Given the description of an element on the screen output the (x, y) to click on. 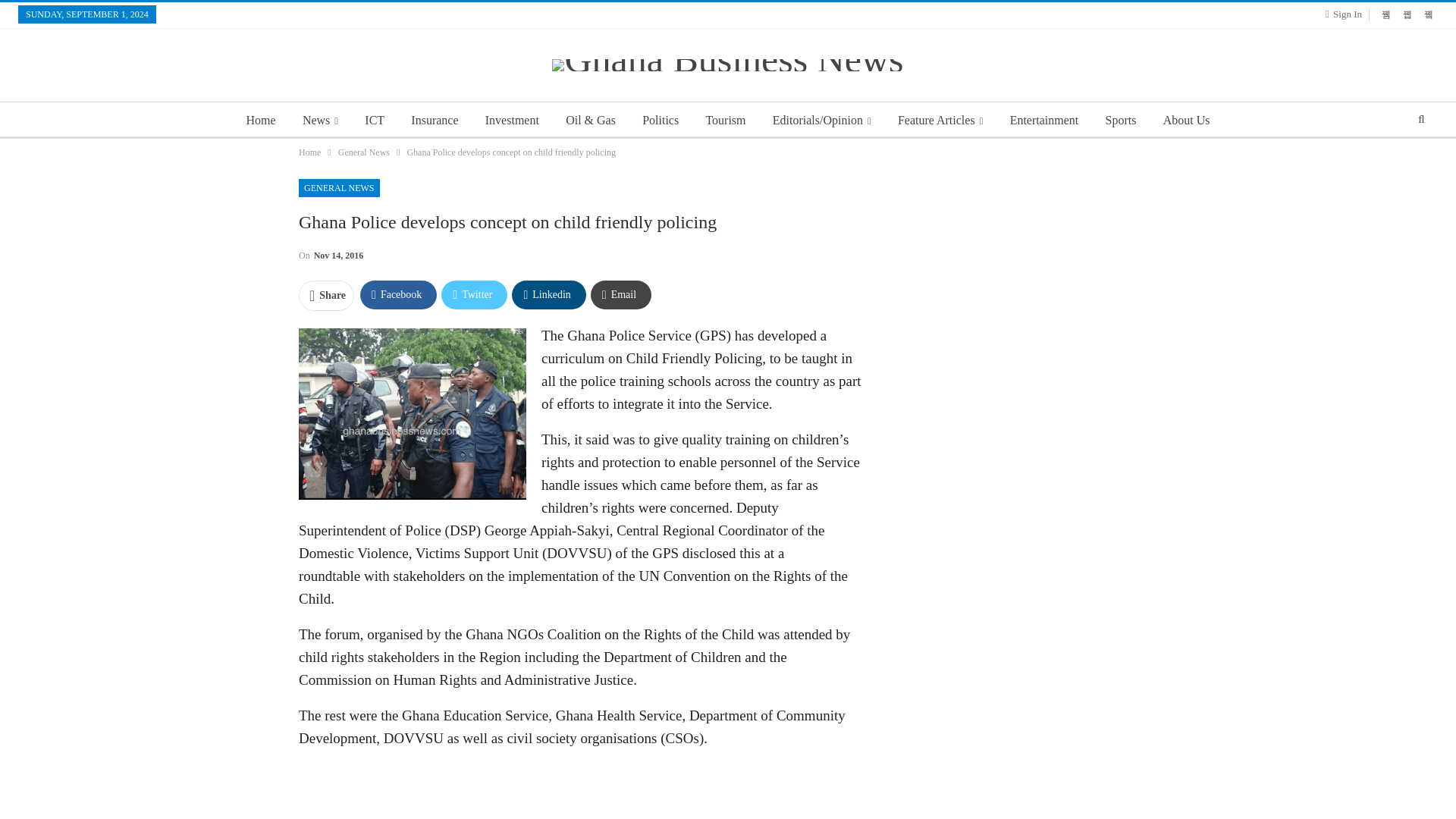
Sign In (1346, 13)
General News (363, 152)
GENERAL NEWS (339, 188)
Tourism (724, 120)
Facebook (397, 294)
Home (309, 152)
Feature Articles (940, 120)
Sports (1120, 120)
News (320, 120)
Twitter (473, 294)
